Given the description of an element on the screen output the (x, y) to click on. 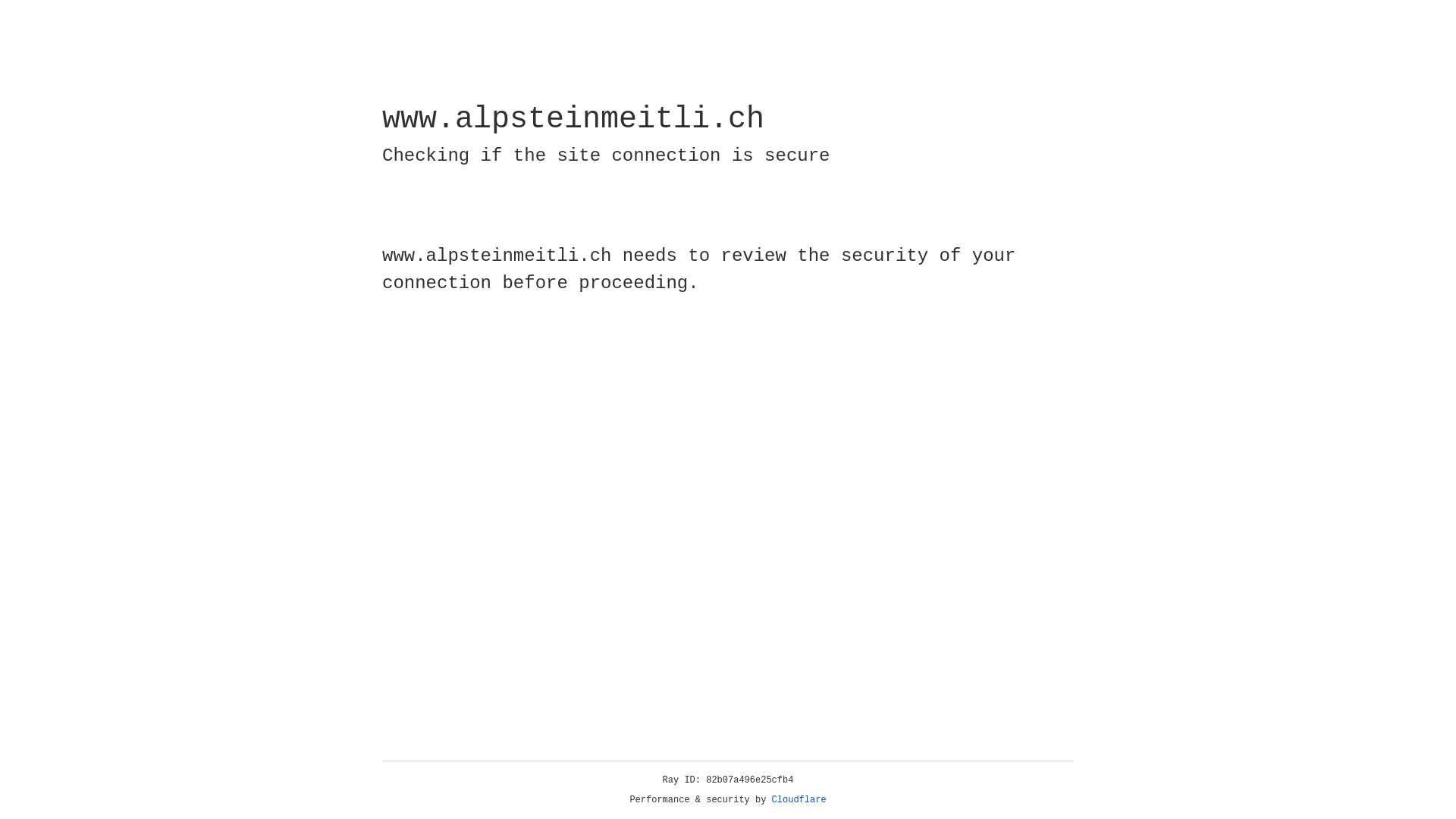
Cloudflare Element type: text (798, 799)
